Given the description of an element on the screen output the (x, y) to click on. 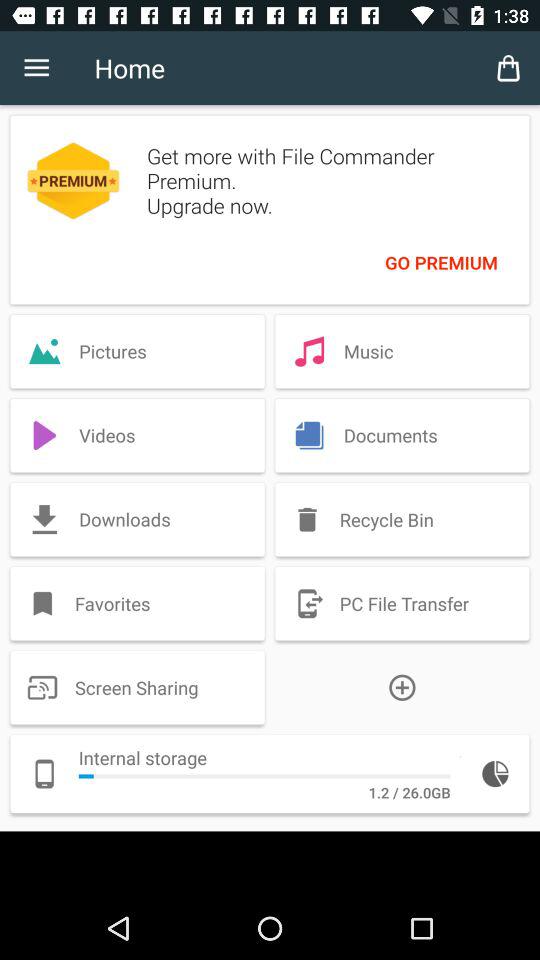
turn off the icon below the 1 2 26 item (270, 863)
